Given the description of an element on the screen output the (x, y) to click on. 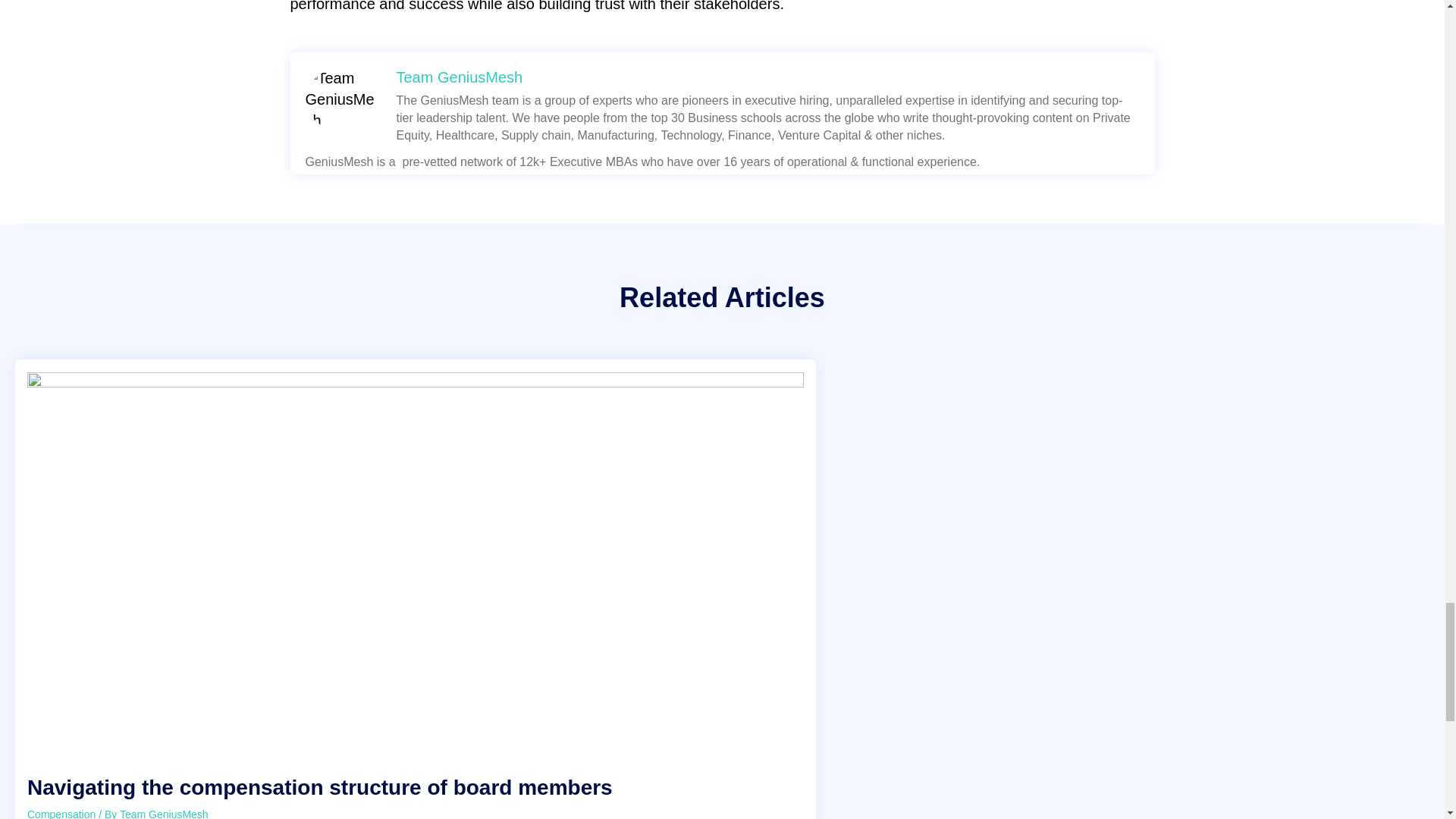
Navigating the compensation structure of board members (319, 787)
Team GeniusMesh (459, 76)
View all posts by Team GeniusMesh (163, 813)
Team GeniusMesh (163, 813)
Compensation (61, 813)
